Given the description of an element on the screen output the (x, y) to click on. 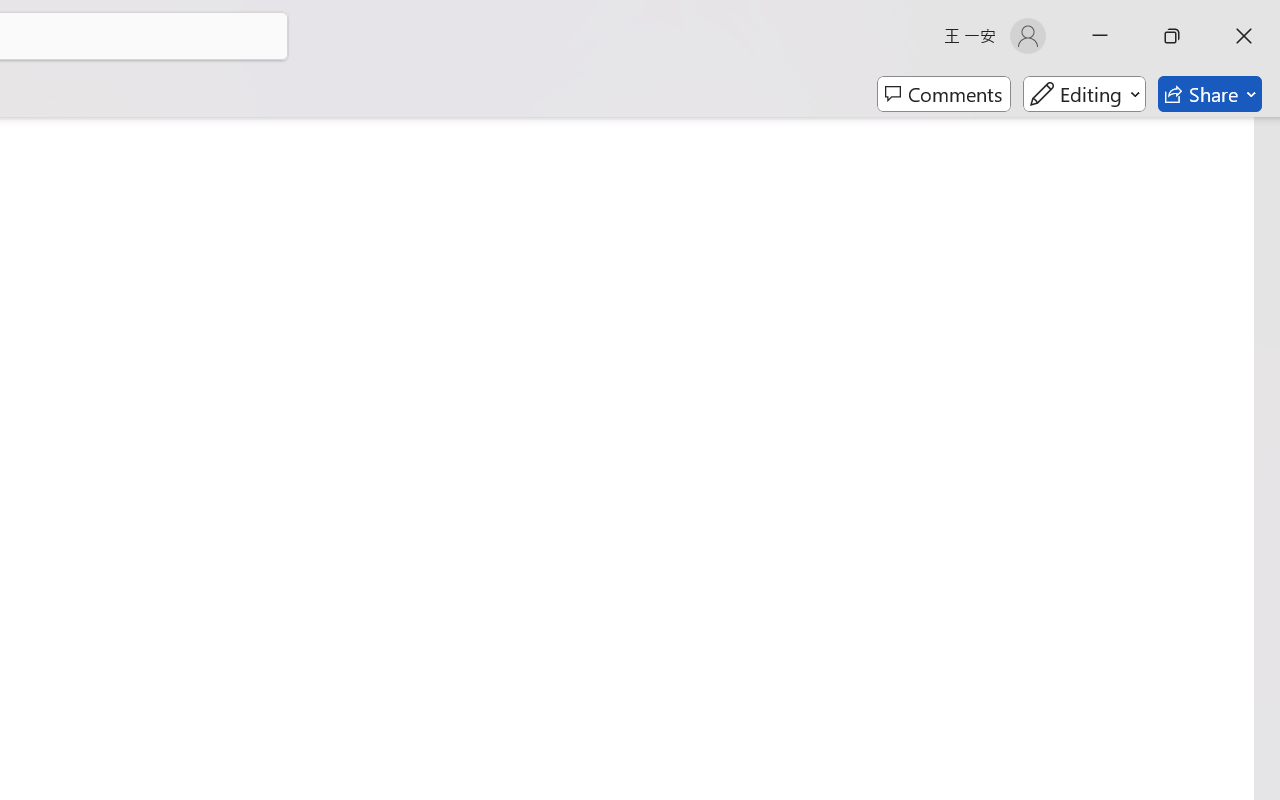
Close (1244, 36)
Mode (1083, 94)
Share (1210, 94)
Comments (943, 94)
Restore Down (1172, 36)
Minimize (1099, 36)
